Given the description of an element on the screen output the (x, y) to click on. 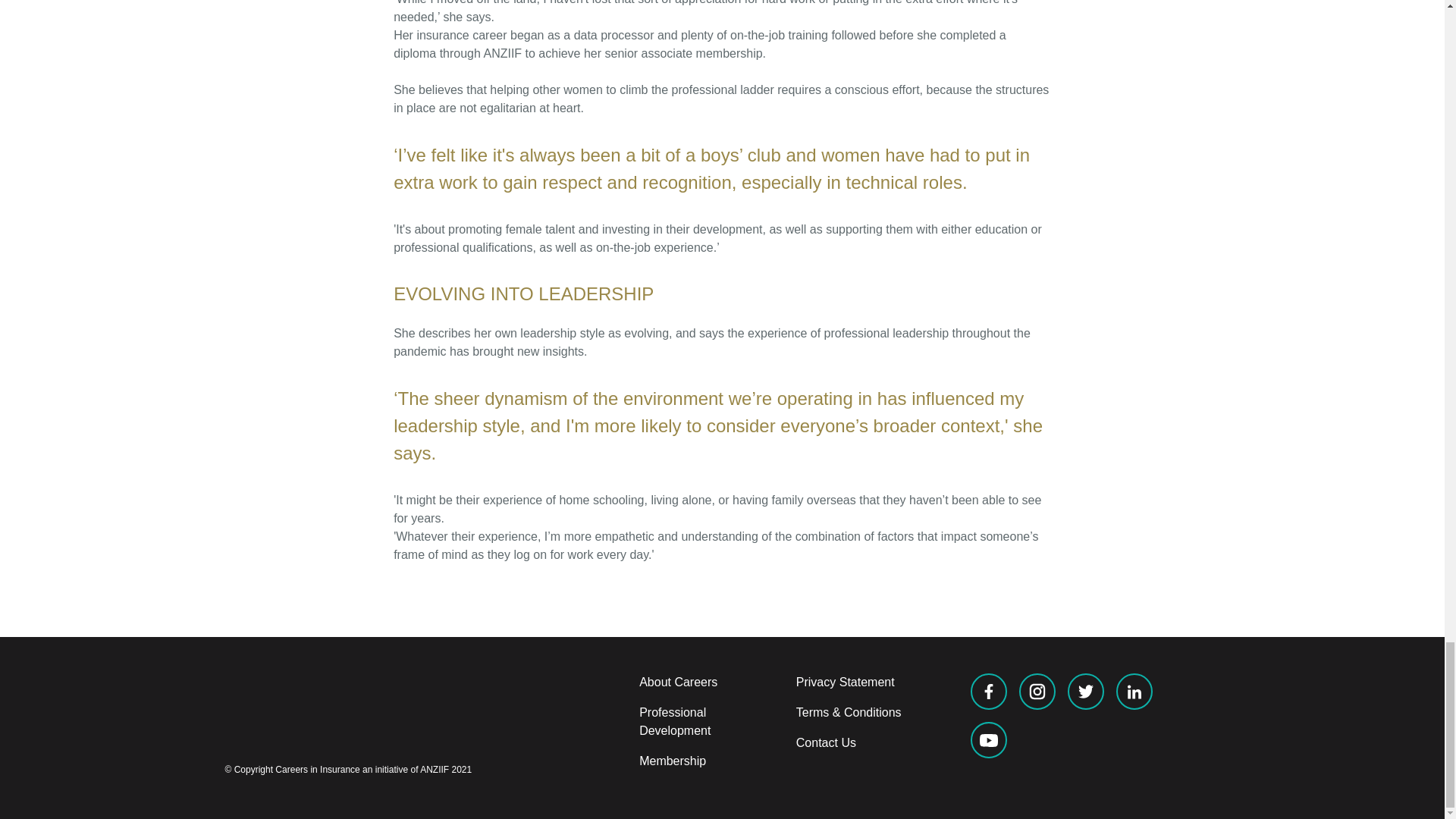
LinkedIn (1134, 691)
YouTube (989, 739)
Instagram (1037, 691)
Twitter (1085, 691)
Facebook (989, 691)
About Careers (678, 681)
Professional Development (674, 721)
Privacy Statement (845, 681)
Contact Us (826, 742)
Membership (672, 760)
